Given the description of an element on the screen output the (x, y) to click on. 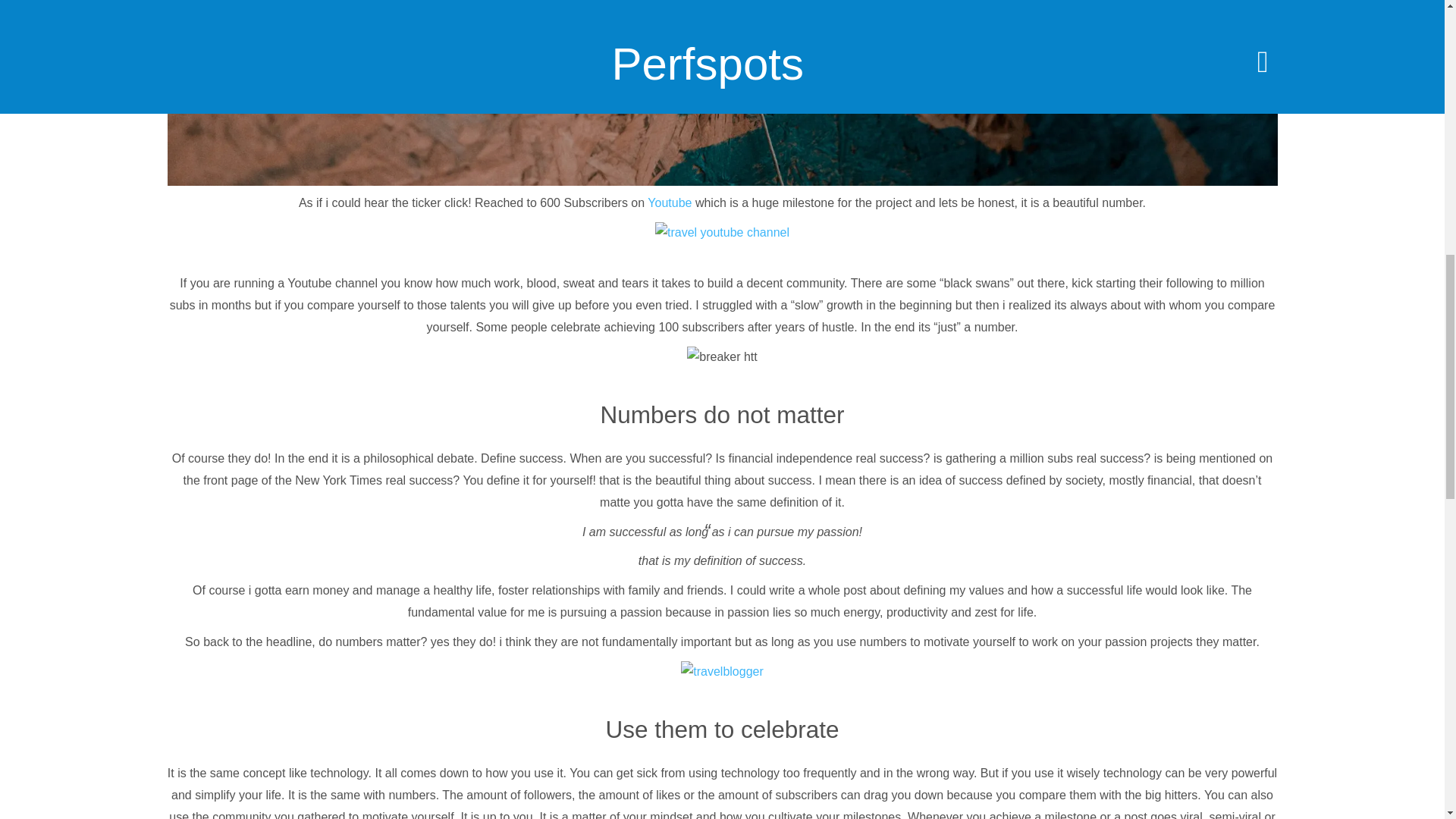
Youtube (669, 202)
